Given the description of an element on the screen output the (x, y) to click on. 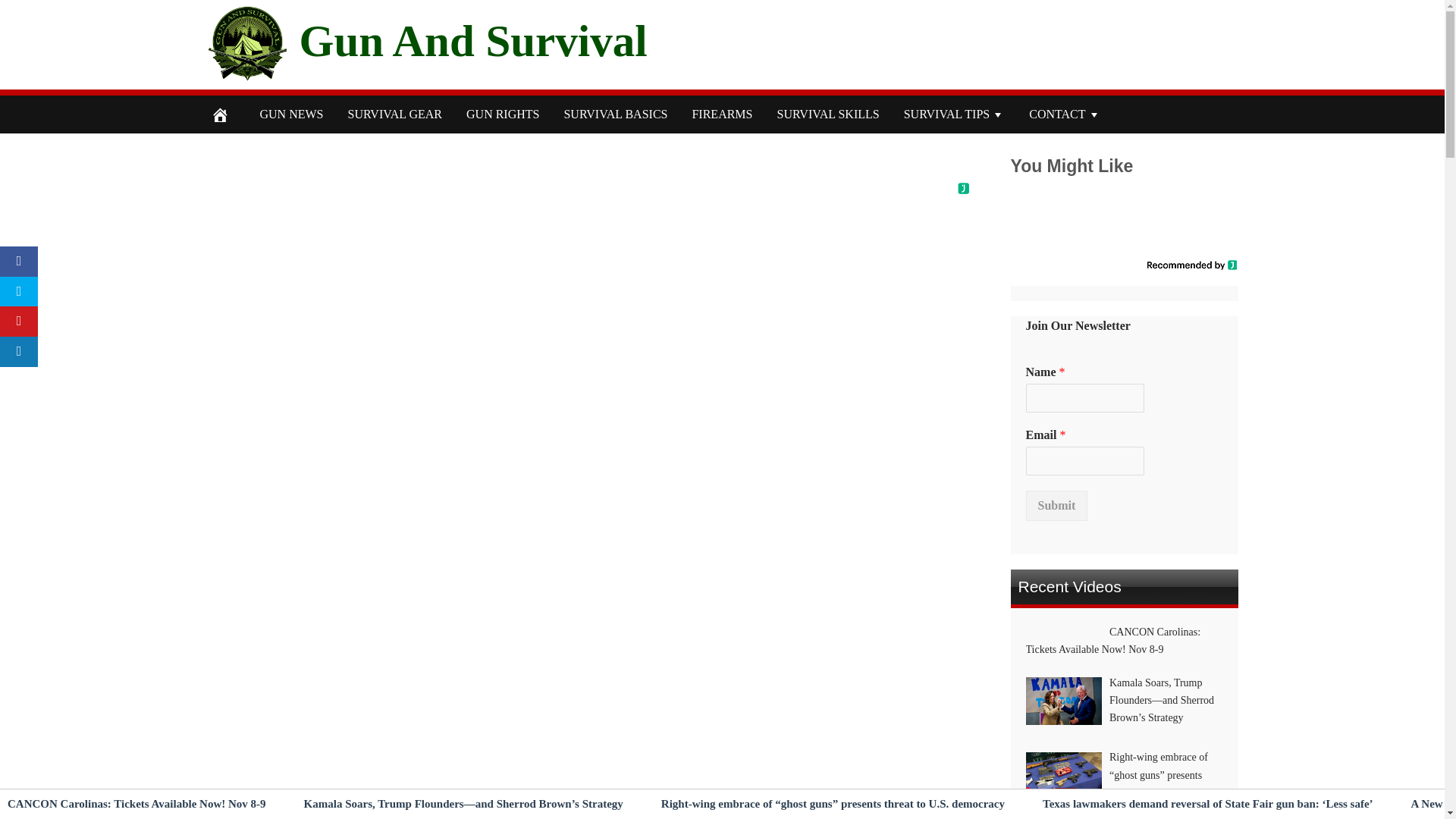
GUN RIGHTS (502, 114)
CANCON Carolinas: Tickets Available Now! Nov 8-9 (136, 803)
FIREARMS (721, 114)
SURVIVAL GEAR (394, 114)
Gun And Survival (472, 40)
GUN NEWS (290, 114)
SURVIVAL BASICS (615, 114)
